Given the description of an element on the screen output the (x, y) to click on. 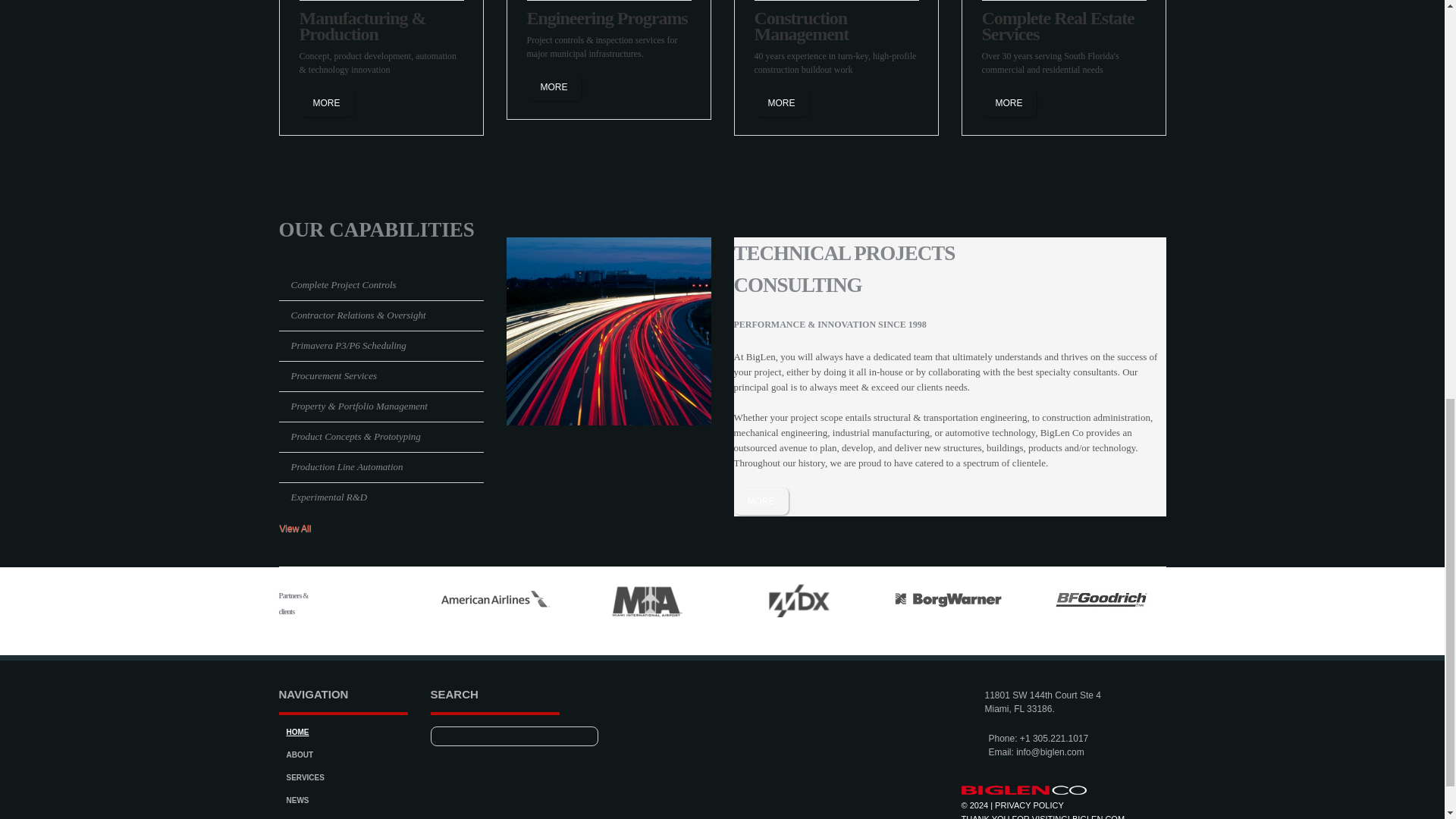
HOME (297, 732)
more (325, 103)
SERVICES (305, 777)
View All (301, 528)
Production Line Automation (347, 466)
MORE (552, 86)
MORE (761, 501)
more (552, 86)
MORE (325, 103)
Complete Project Controls (343, 284)
search (577, 736)
search (577, 736)
